Given the description of an element on the screen output the (x, y) to click on. 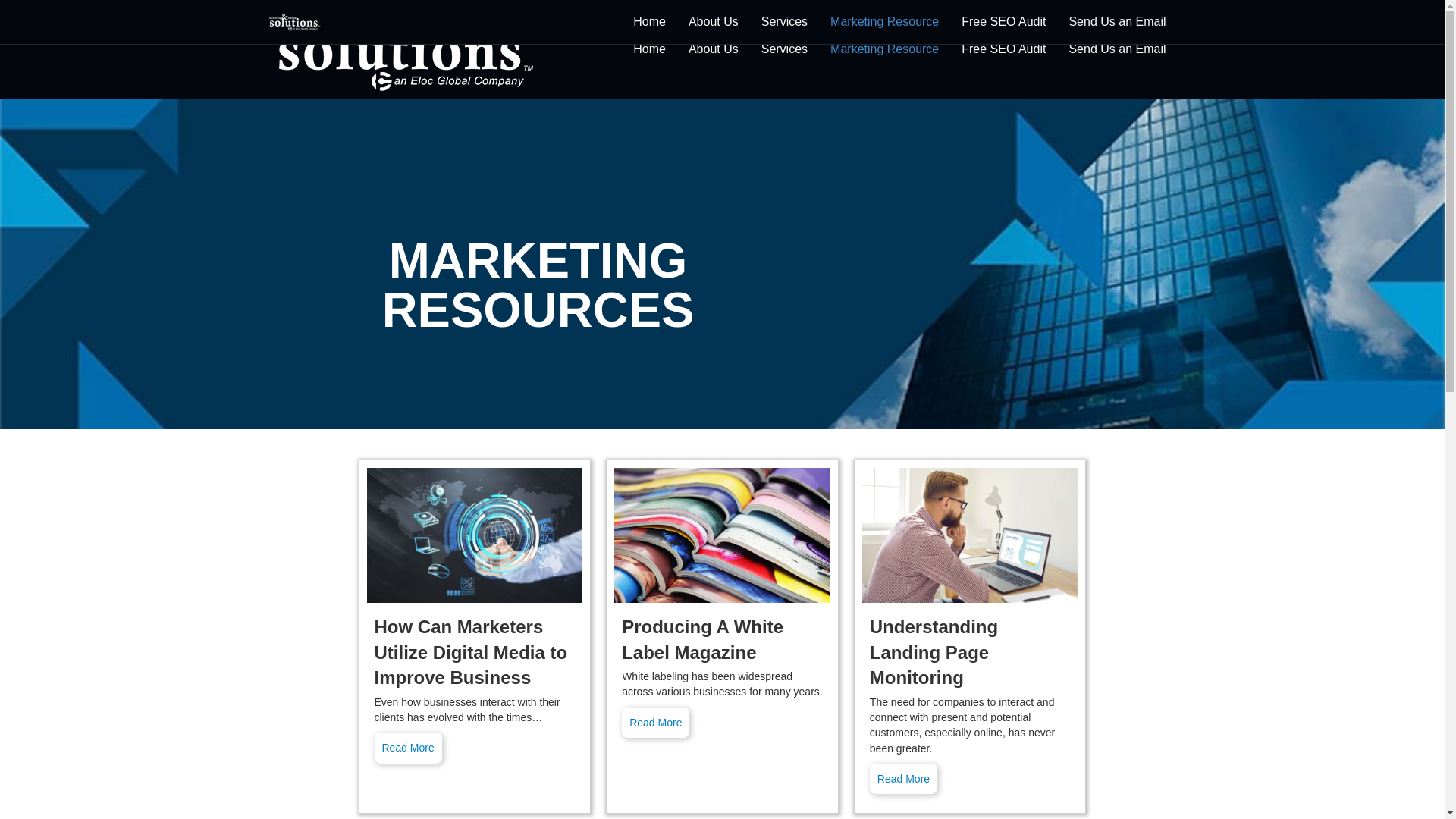
Producing A White Label Magazine (654, 722)
Free SEO Audit (1003, 21)
About Us (713, 21)
Marketing Resource (884, 21)
About Us (713, 48)
Services (783, 21)
Digital Media (474, 534)
Understanding Landing Page Monitoring (903, 778)
Services (783, 48)
Understanding Landing Page Monitoring (969, 534)
Understanding Landing Page Monitoring (933, 651)
Send Us an Email (1116, 21)
How Can Marketers Utilize Digital Media to Improve Business (408, 747)
Home (649, 21)
Producing A White Label Magazine (702, 639)
